Given the description of an element on the screen output the (x, y) to click on. 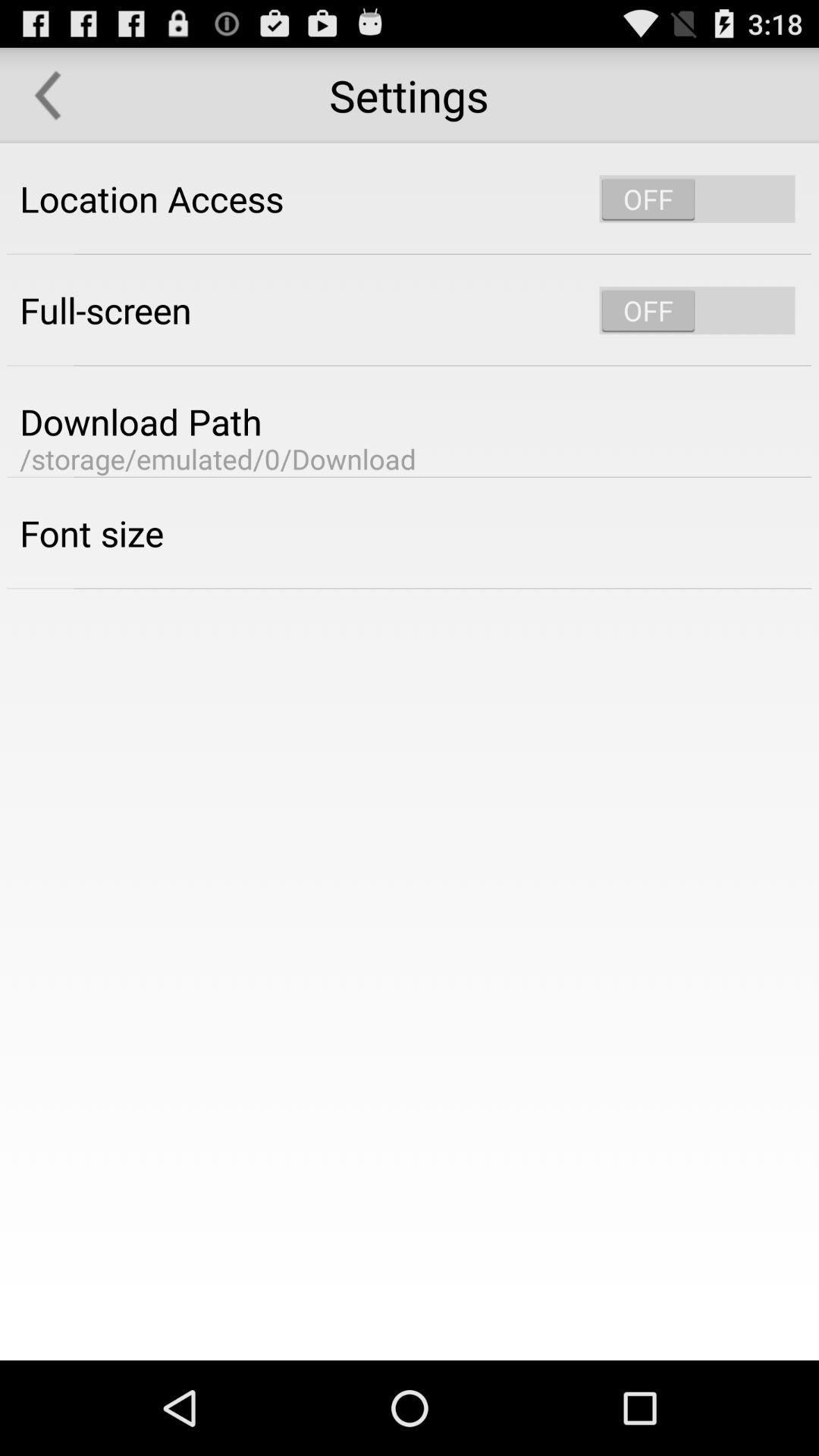
tap the icon next to location access item (697, 198)
